Given the description of an element on the screen output the (x, y) to click on. 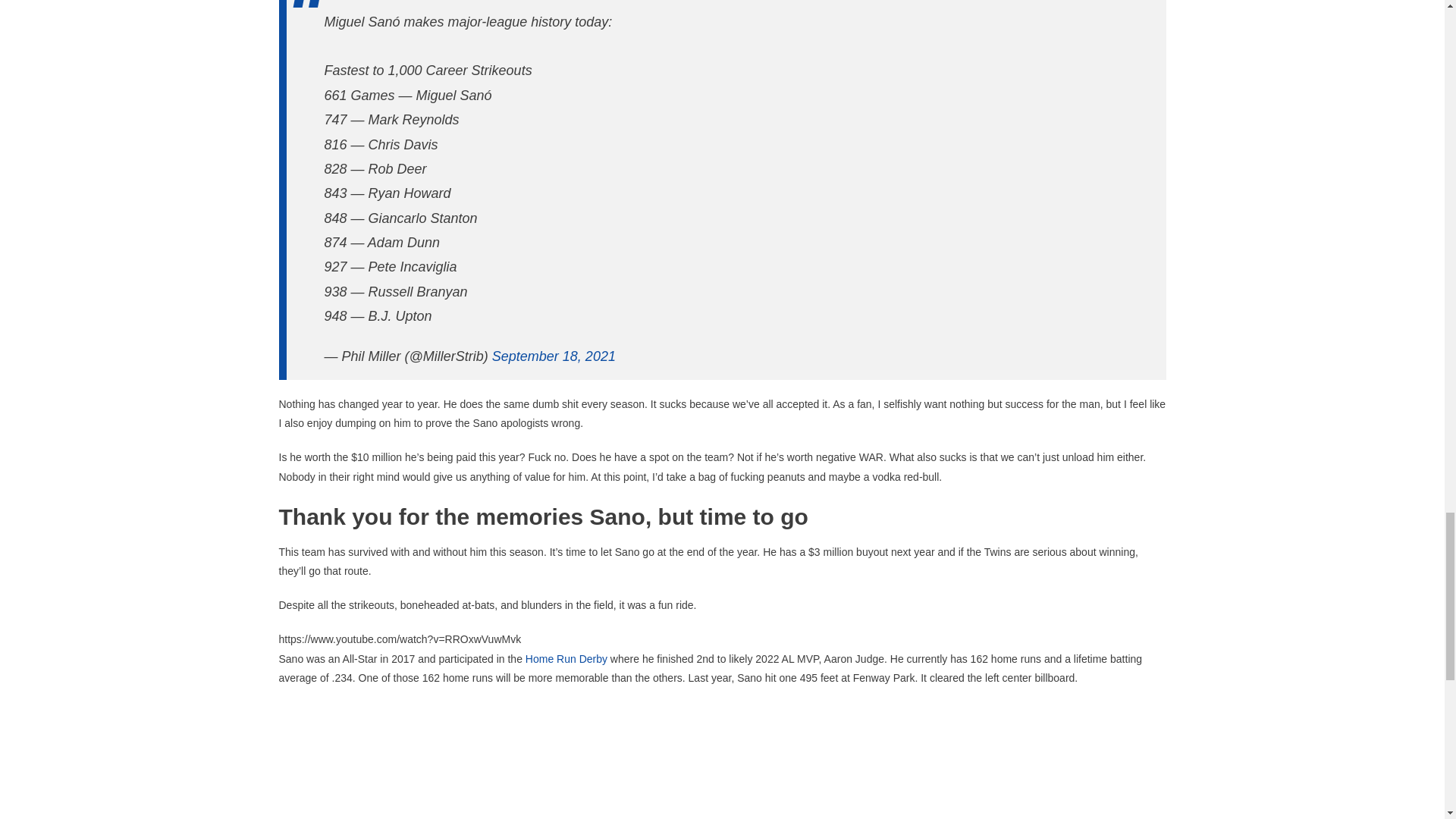
Home Run Derby (566, 658)
September 18, 2021 (553, 355)
